Given the description of an element on the screen output the (x, y) to click on. 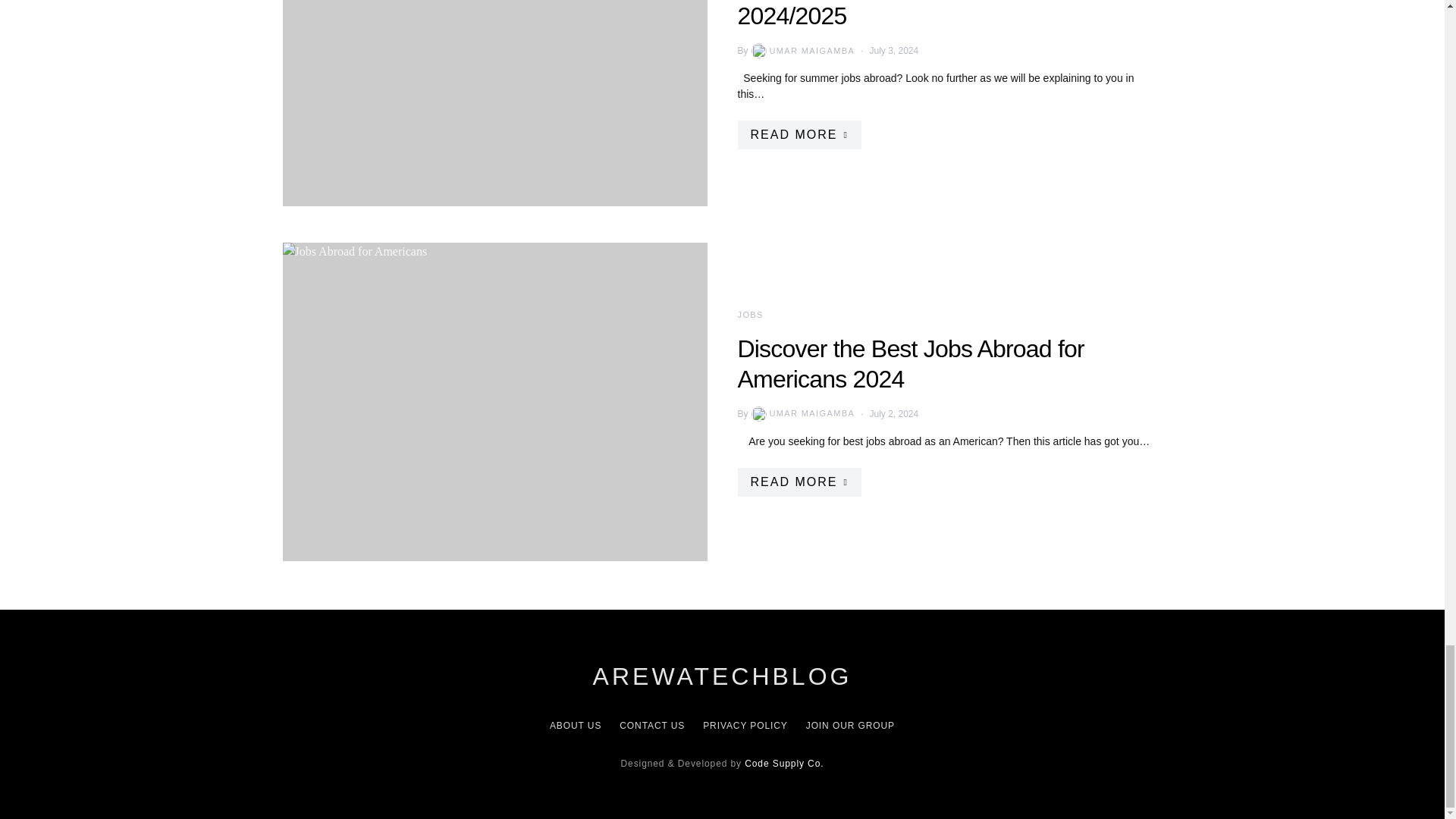
View all posts by Umar Maigamba (802, 413)
View all posts by Umar Maigamba (802, 50)
